Given the description of an element on the screen output the (x, y) to click on. 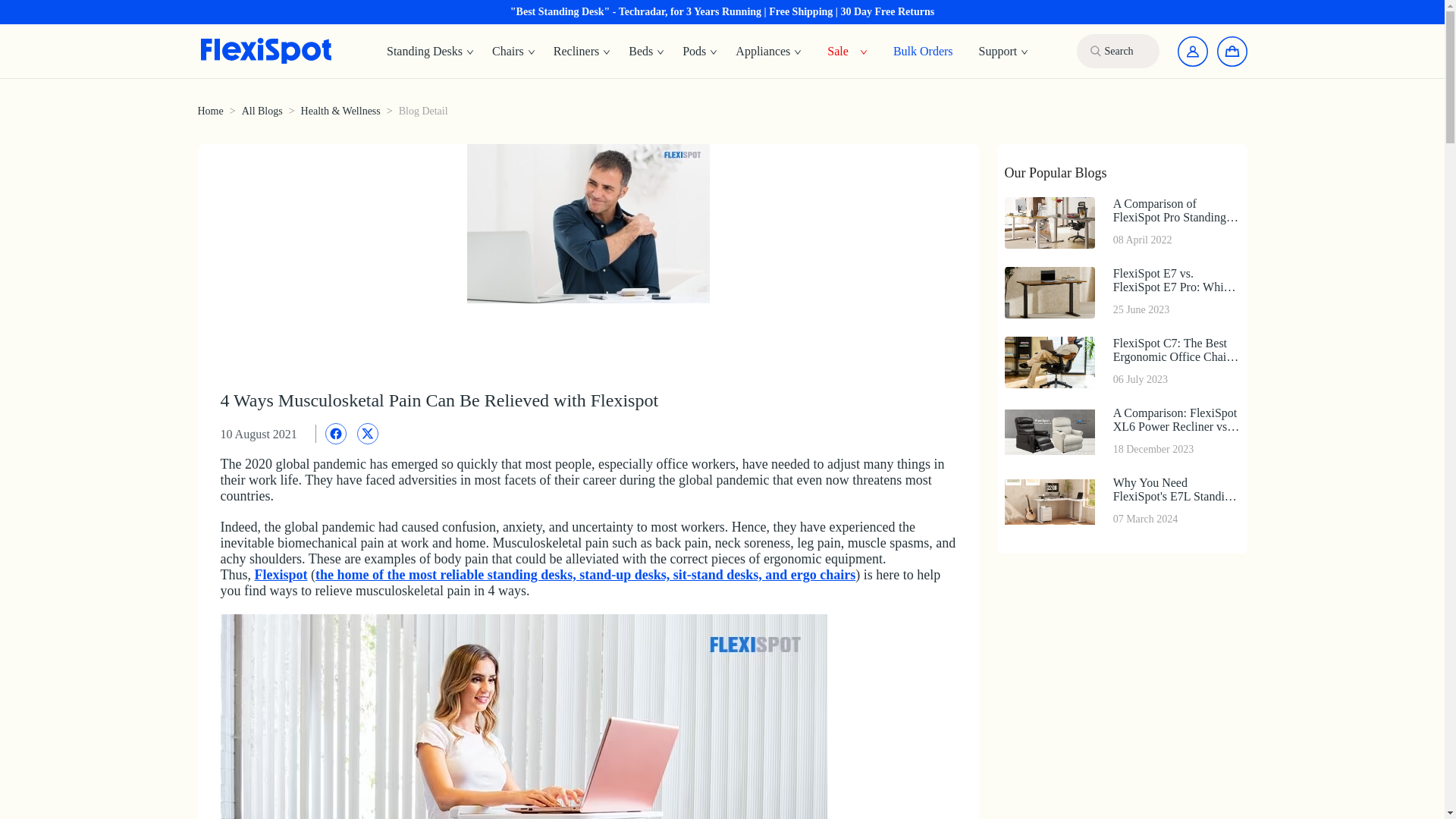
Standing Desks (429, 51)
All Blogs (261, 111)
Appliances (768, 51)
Pods (700, 51)
Chairs (513, 51)
Sale (837, 50)
Beds (646, 51)
Flexispot (280, 574)
Bulk Orders (1121, 501)
